Given the description of an element on the screen output the (x, y) to click on. 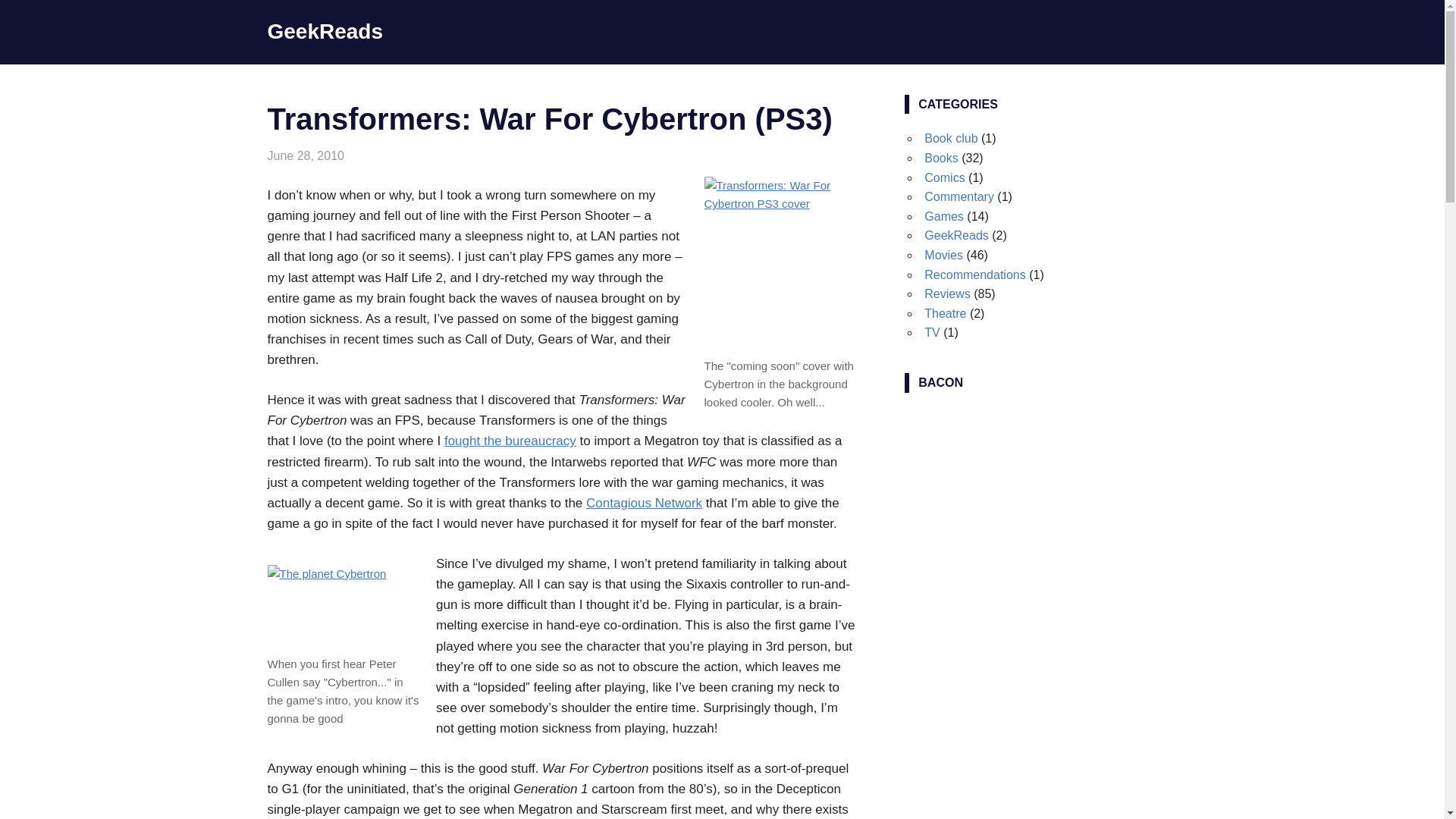
Comics (943, 177)
Book club (950, 137)
View all posts by Caesar Wong (381, 155)
Commentary (959, 196)
Advertisement (1040, 513)
GeekReads (324, 31)
11:14 pm (304, 155)
Contagious Network (643, 503)
Books (941, 157)
Games (363, 155)
War For Cybertron - Cybertron (342, 607)
Transformers: War For Cybertron PS3 (779, 263)
June 28, 2010 (304, 155)
fought the bureaucracy (510, 440)
Reviews (412, 155)
